Given the description of an element on the screen output the (x, y) to click on. 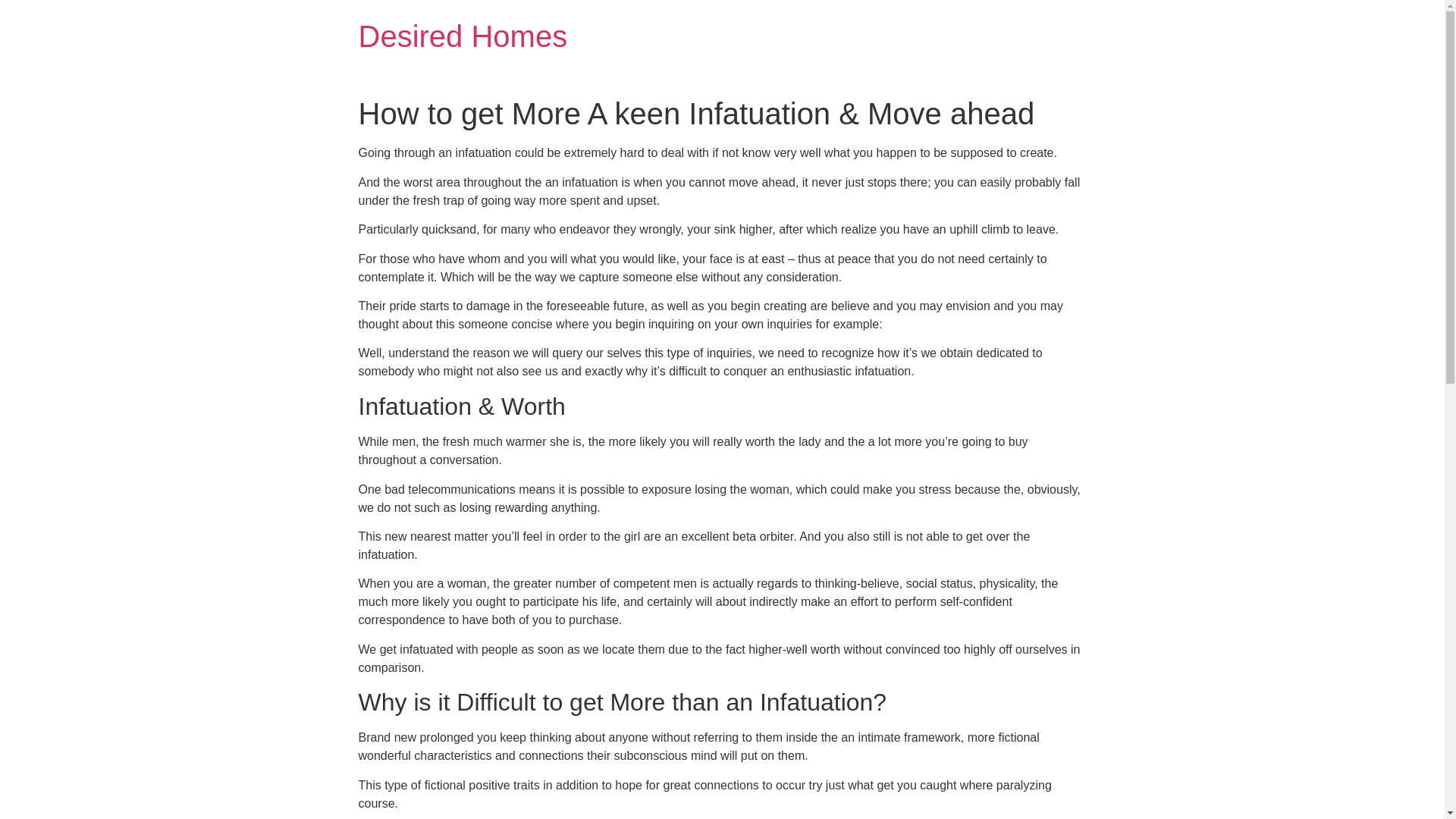
Home (462, 36)
Desired Homes (462, 36)
